Given the description of an element on the screen output the (x, y) to click on. 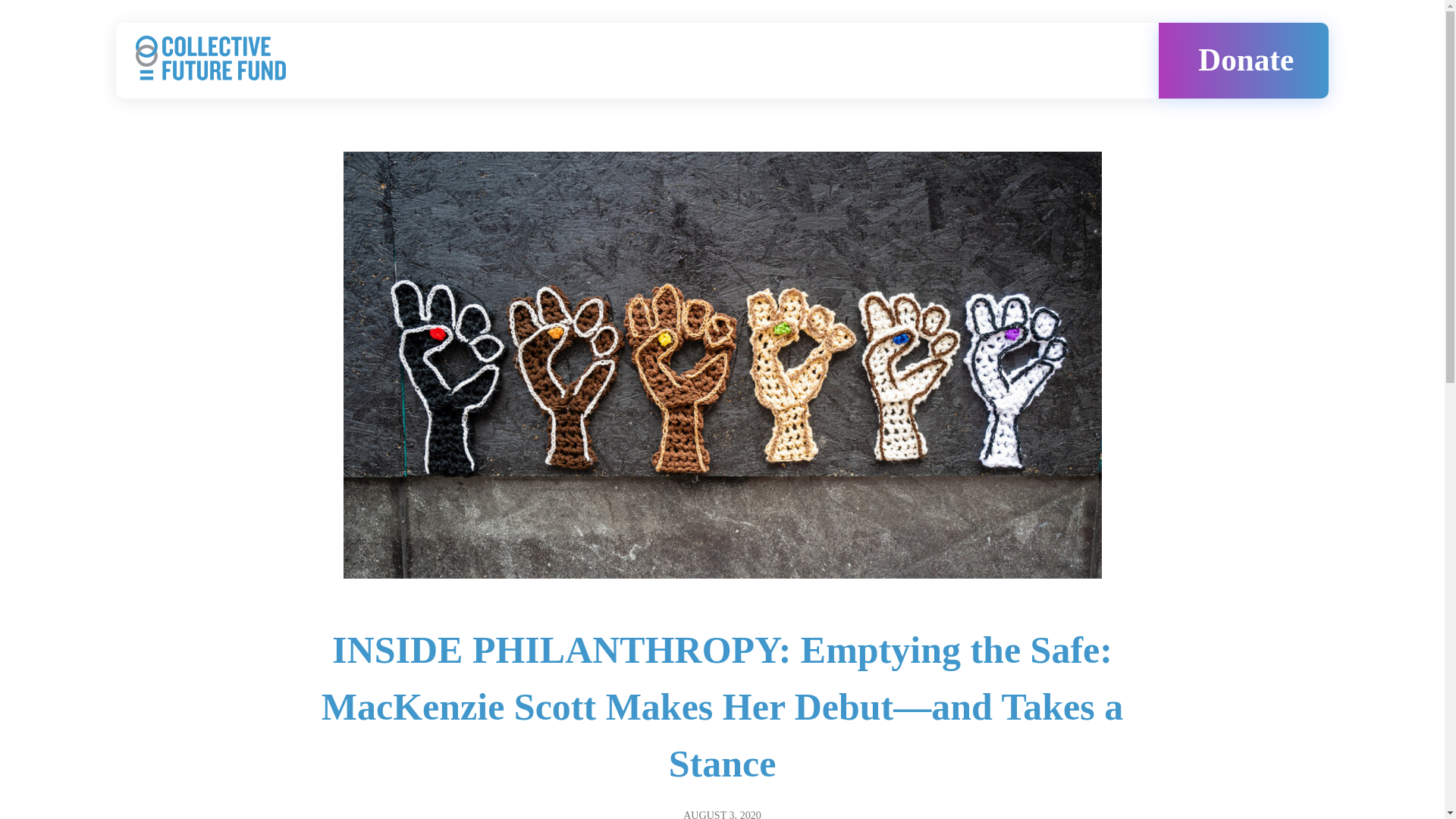
The Collective Future Fund (210, 58)
The Collective Future Fund (271, 88)
The Collective Future Fund (250, 88)
